Given the description of an element on the screen output the (x, y) to click on. 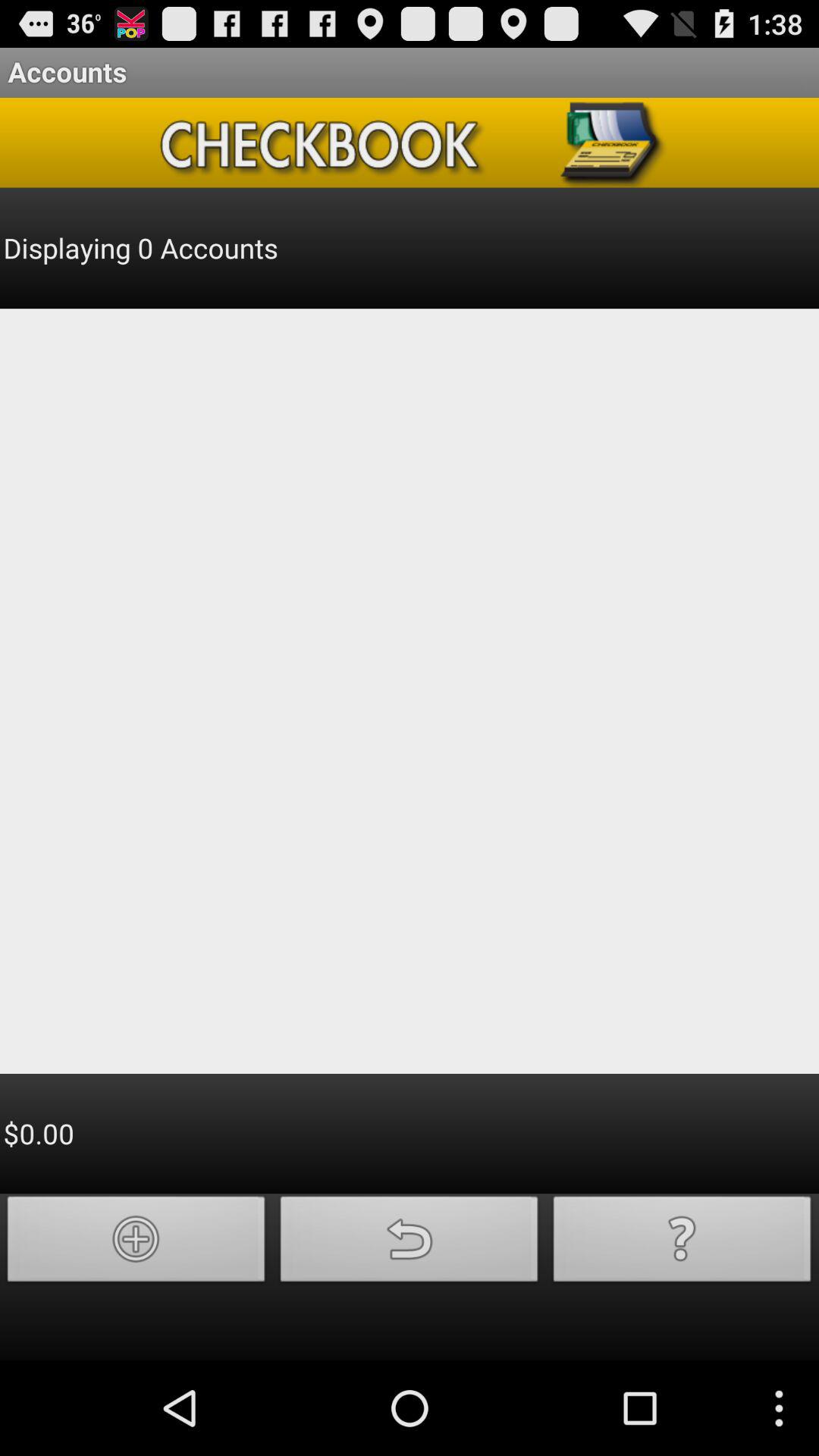
get help (682, 1243)
